Given the description of an element on the screen output the (x, y) to click on. 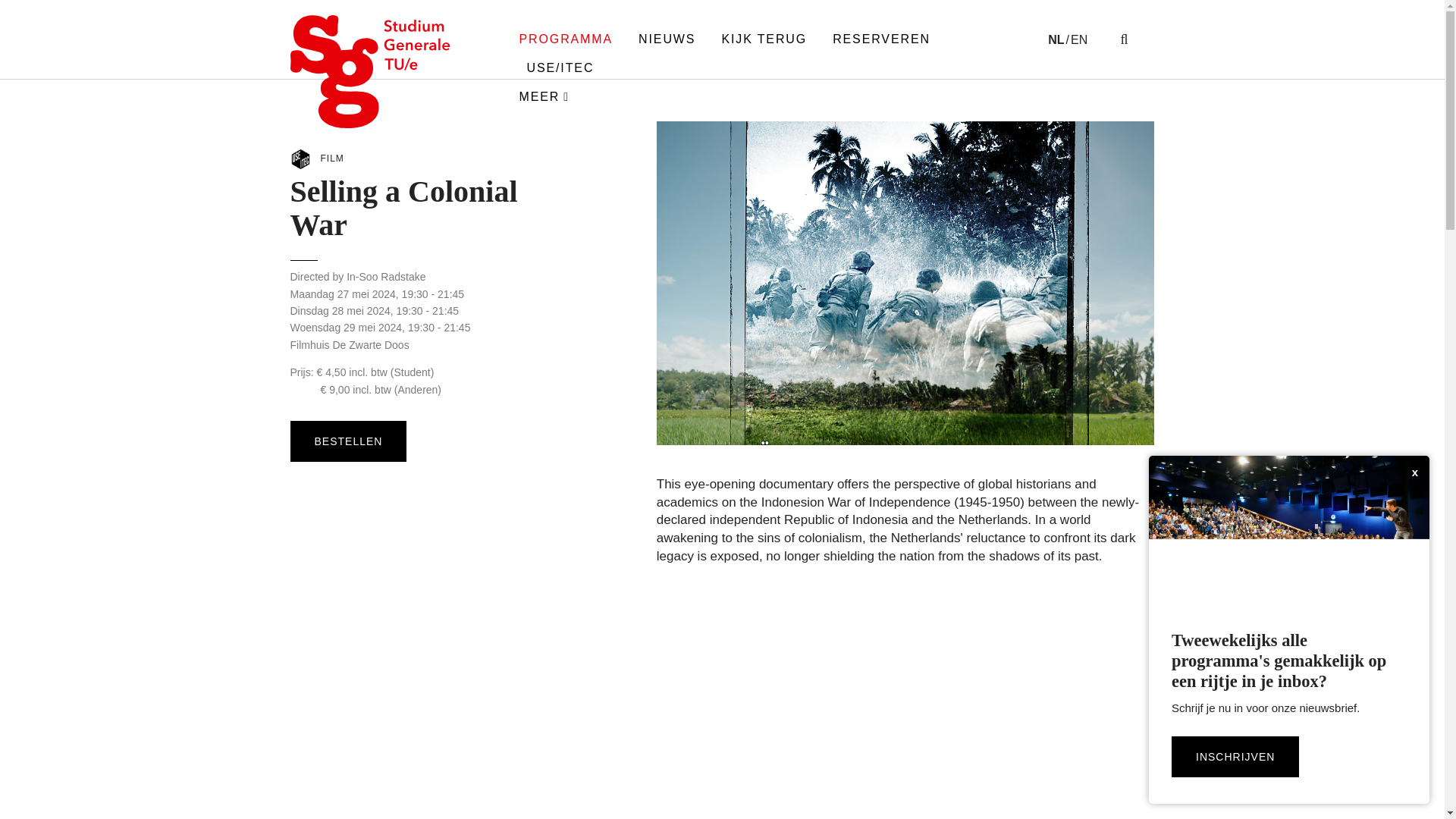
EN (1080, 39)
NL (1059, 39)
BESTELLEN (347, 440)
NIEUWS (666, 39)
RESERVEREN (881, 39)
PROGRAMMA (565, 39)
KIJK TERUG (764, 39)
Studium Generale (369, 71)
